Given the description of an element on the screen output the (x, y) to click on. 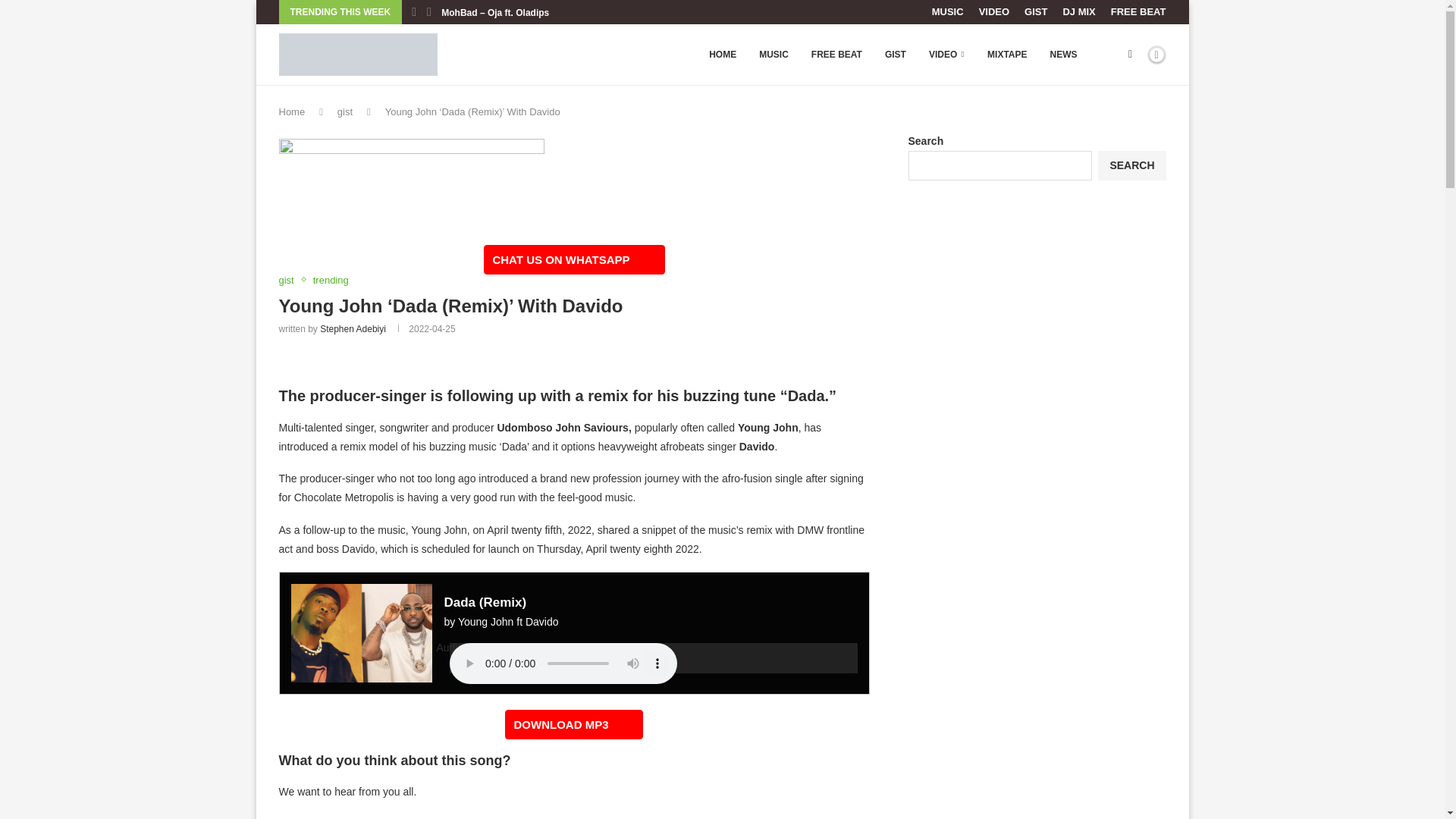
trending (331, 280)
VIDEO (946, 54)
FREE BEAT (1138, 12)
GIST (1035, 12)
DJ MIX (1078, 12)
MUSIC (947, 12)
Home (292, 111)
gist (344, 111)
MIXTAPE (1006, 54)
gist (290, 280)
VIDEO (993, 12)
FREE BEAT (836, 54)
Stephen Adebiyi (352, 328)
CHAT US ON WHATSAPP (573, 259)
